Given the description of an element on the screen output the (x, y) to click on. 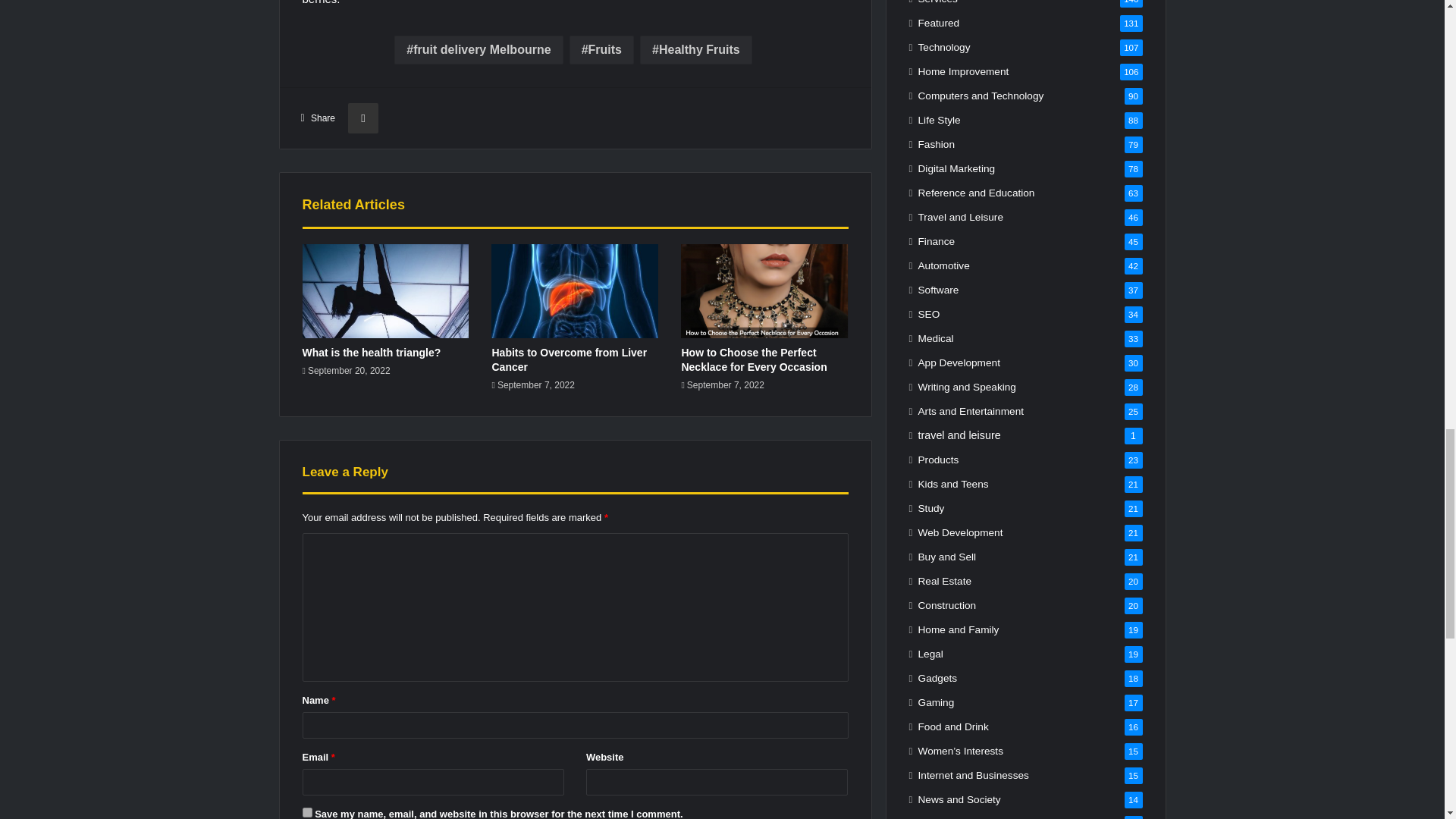
How to Choose the Perfect Necklace for Every Occasion (754, 359)
yes (306, 812)
Habits to Overcome from Liver Cancer (569, 359)
Fruits (601, 50)
fruit delivery Melbourne (478, 50)
Healthy Fruits (696, 50)
Share via Email (362, 118)
What is the health triangle? (371, 352)
Share via Email (362, 118)
